Given the description of an element on the screen output the (x, y) to click on. 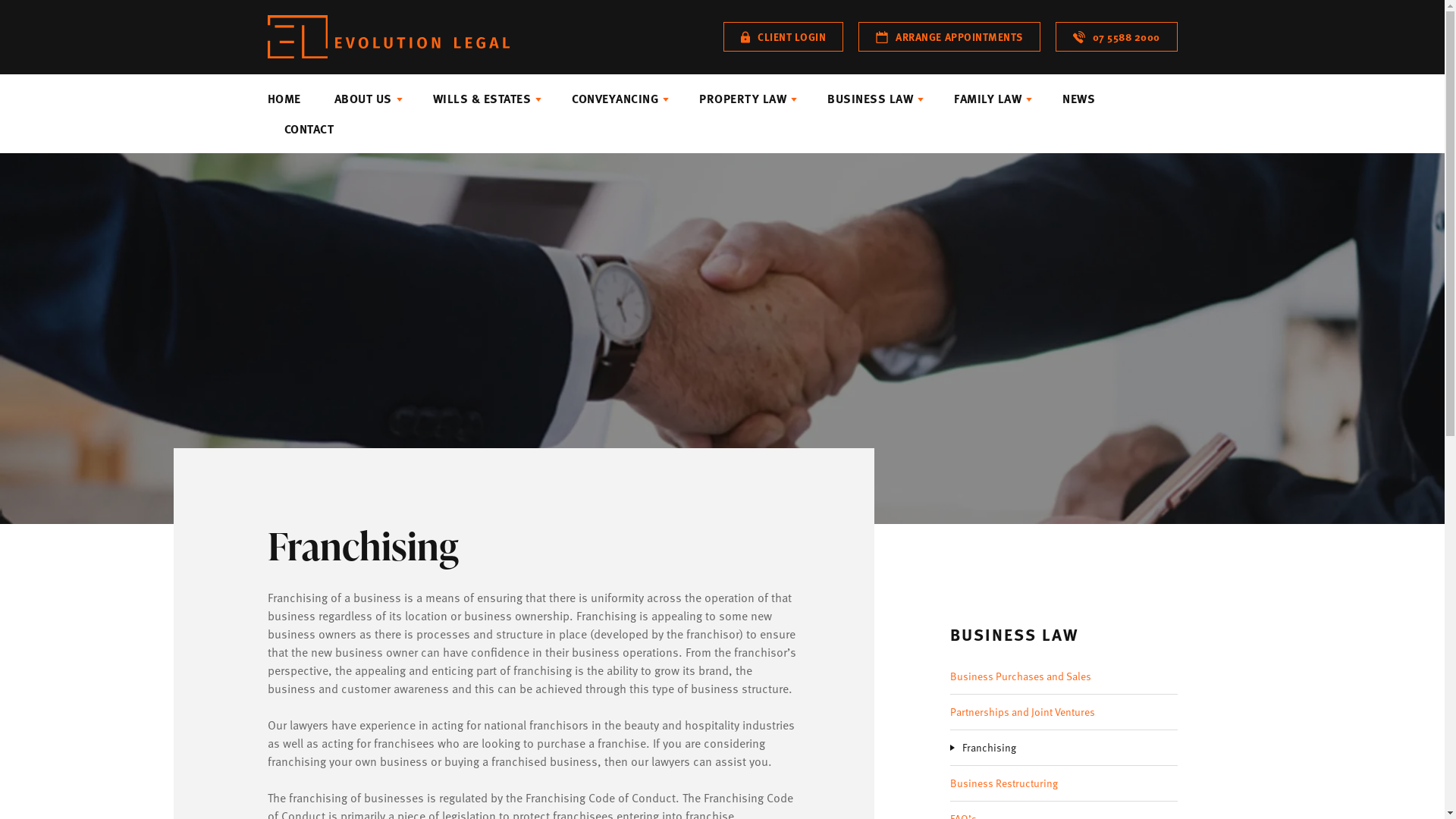
WILLS & ESTATES Element type: text (485, 98)
BUSINESS LAW Element type: text (1013, 634)
Business Purchases and Sales Element type: text (1062, 675)
CONTACT Element type: text (299, 128)
HOME Element type: text (291, 98)
CONVEYANCING Element type: text (618, 98)
07 5588 2000 Element type: text (1116, 36)
CLIENT LOGIN Element type: text (783, 36)
ABOUT US Element type: text (365, 98)
NEWS Element type: text (1078, 98)
FAMILY LAW Element type: text (991, 98)
BUSINESS LAW Element type: text (873, 98)
PROPERTY LAW Element type: text (746, 98)
Partnerships and Joint Ventures Element type: text (1062, 711)
ARRANGE APPOINTMENTS Element type: text (949, 36)
Business Restructuring Element type: text (1062, 782)
Franchising Element type: text (1068, 747)
